Given the description of an element on the screen output the (x, y) to click on. 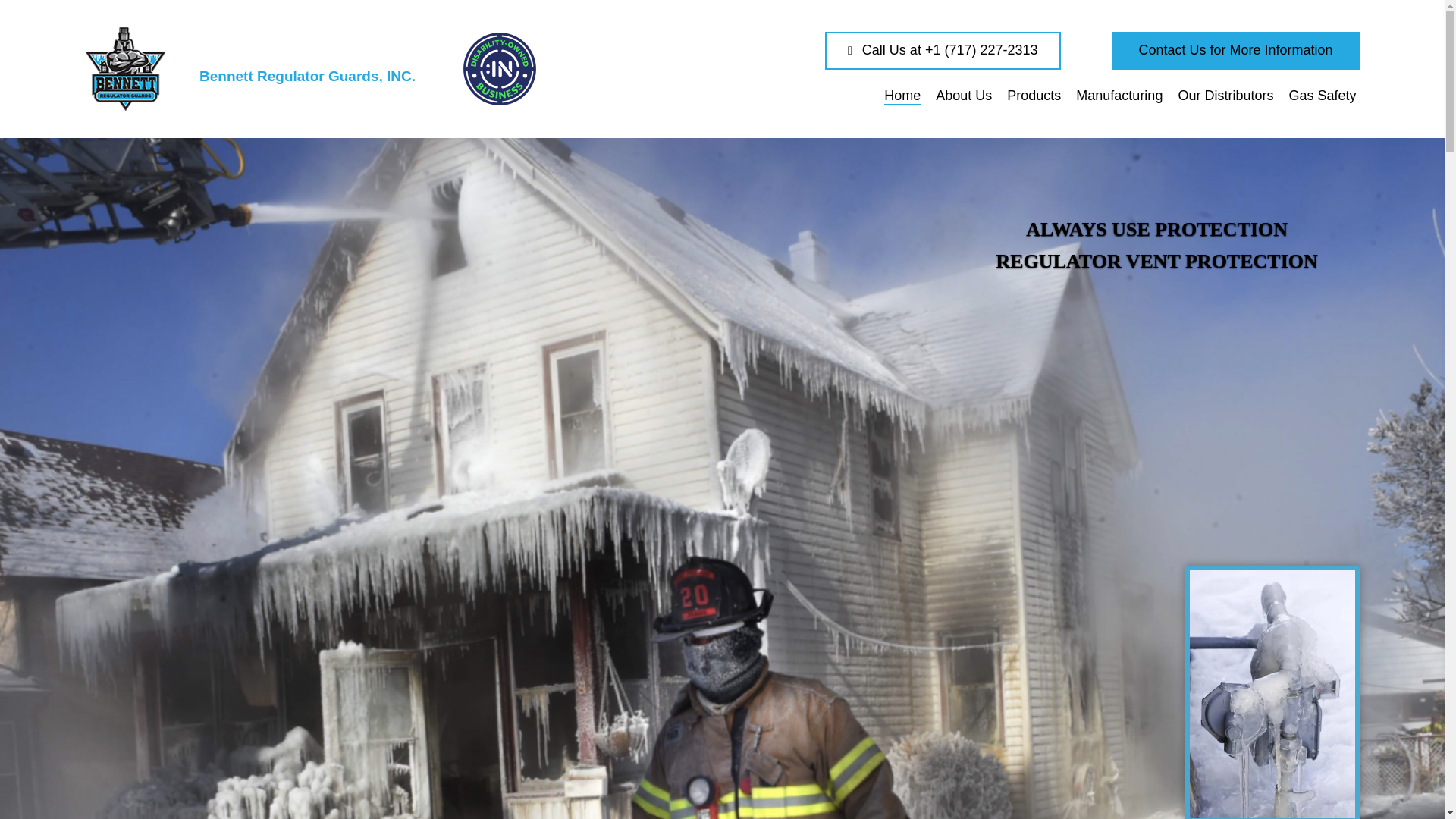
Products (1033, 95)
Home (902, 95)
Gas Safety (1321, 95)
About Us (963, 95)
Our Distributors (1225, 95)
Manufacturing (1119, 95)
Bennett Regulator Guards, INC. (264, 67)
Contact Us for More Information (1235, 50)
